Given the description of an element on the screen output the (x, y) to click on. 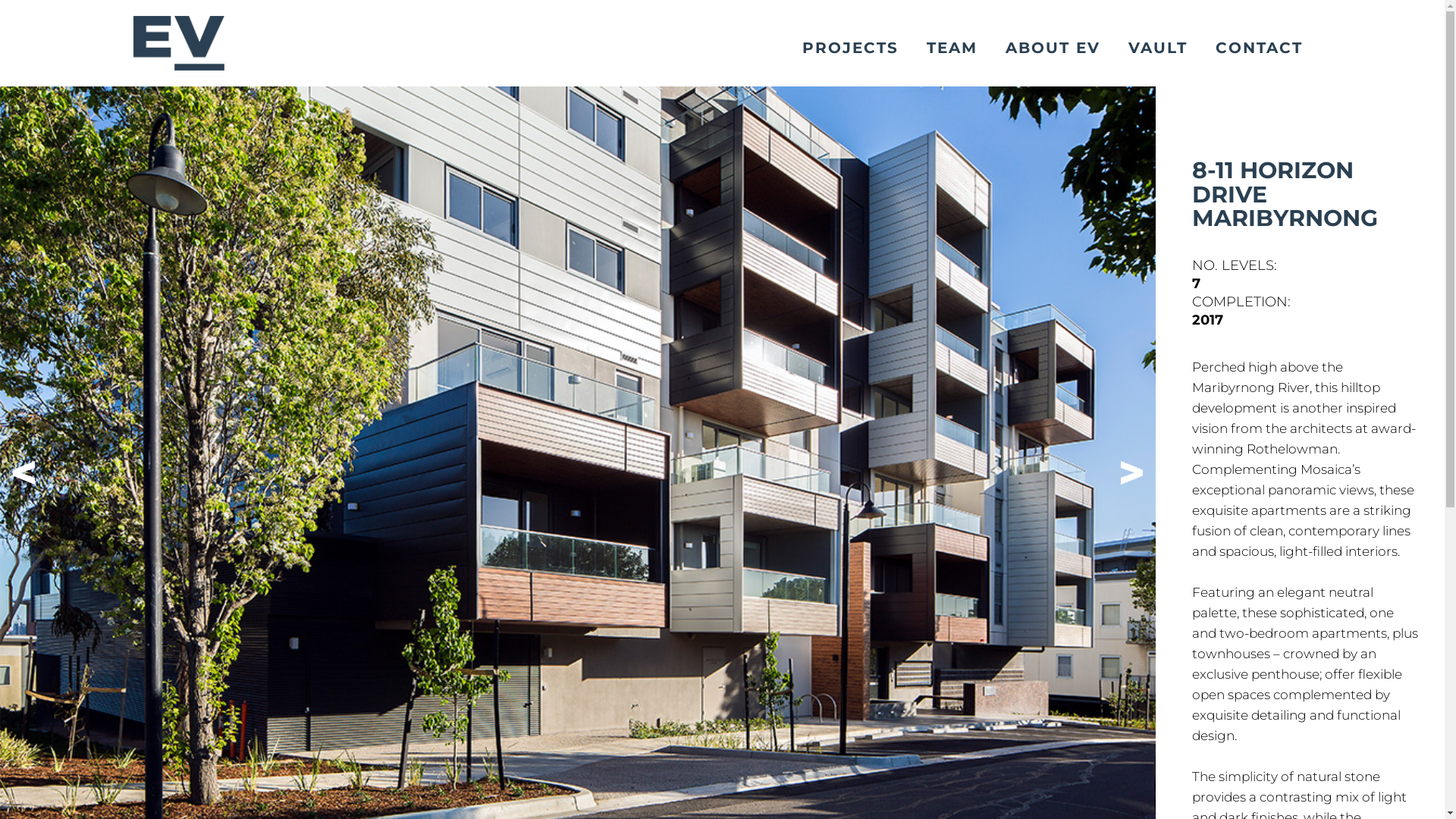
VAULT Element type: text (1157, 48)
ABOUT EV Element type: text (1052, 48)
TEAM Element type: text (951, 48)
CONTACT Element type: text (1258, 48)
PROJECTS Element type: text (850, 48)
